Given the description of an element on the screen output the (x, y) to click on. 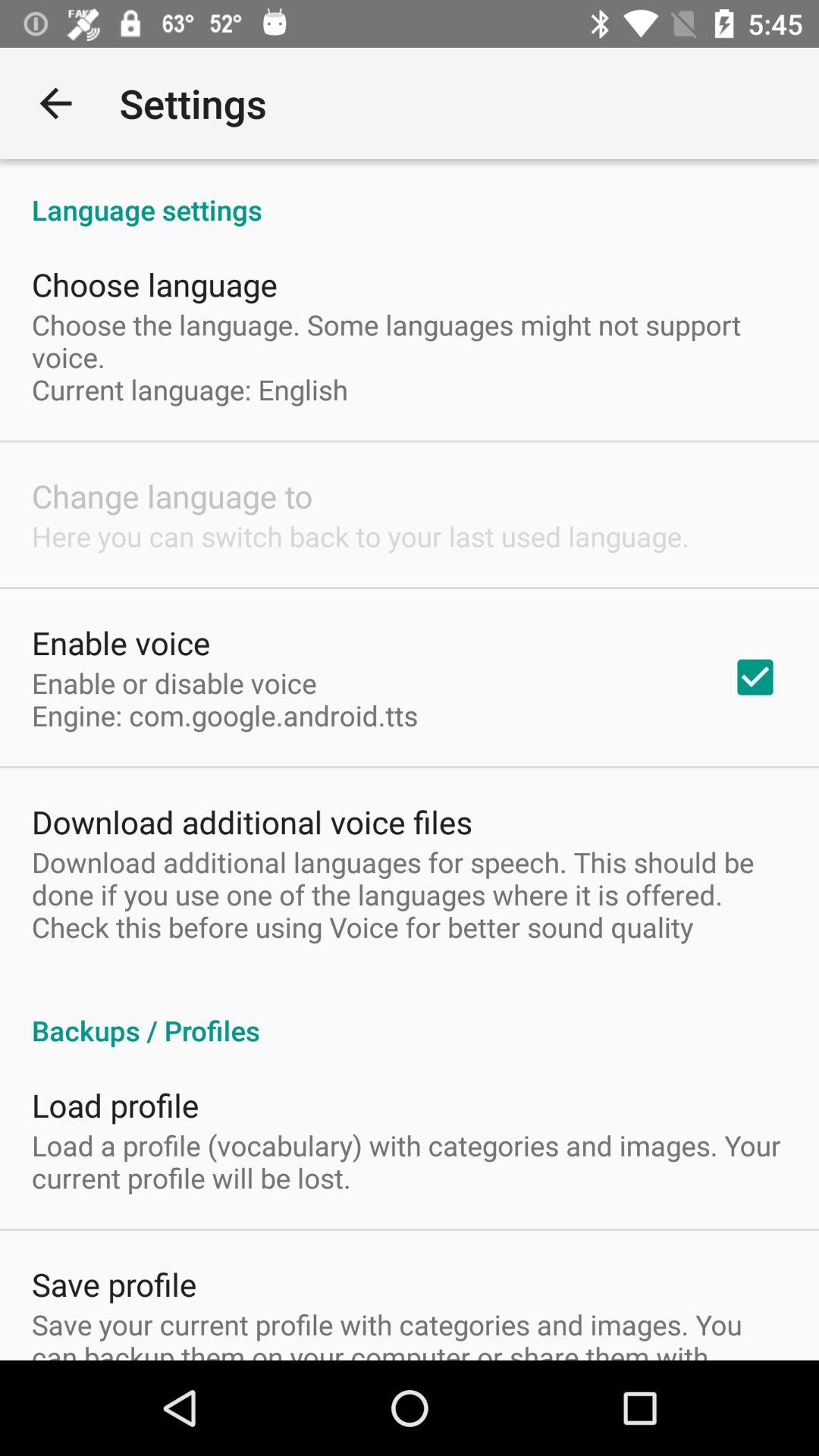
launch the enable or disable item (224, 699)
